Given the description of an element on the screen output the (x, y) to click on. 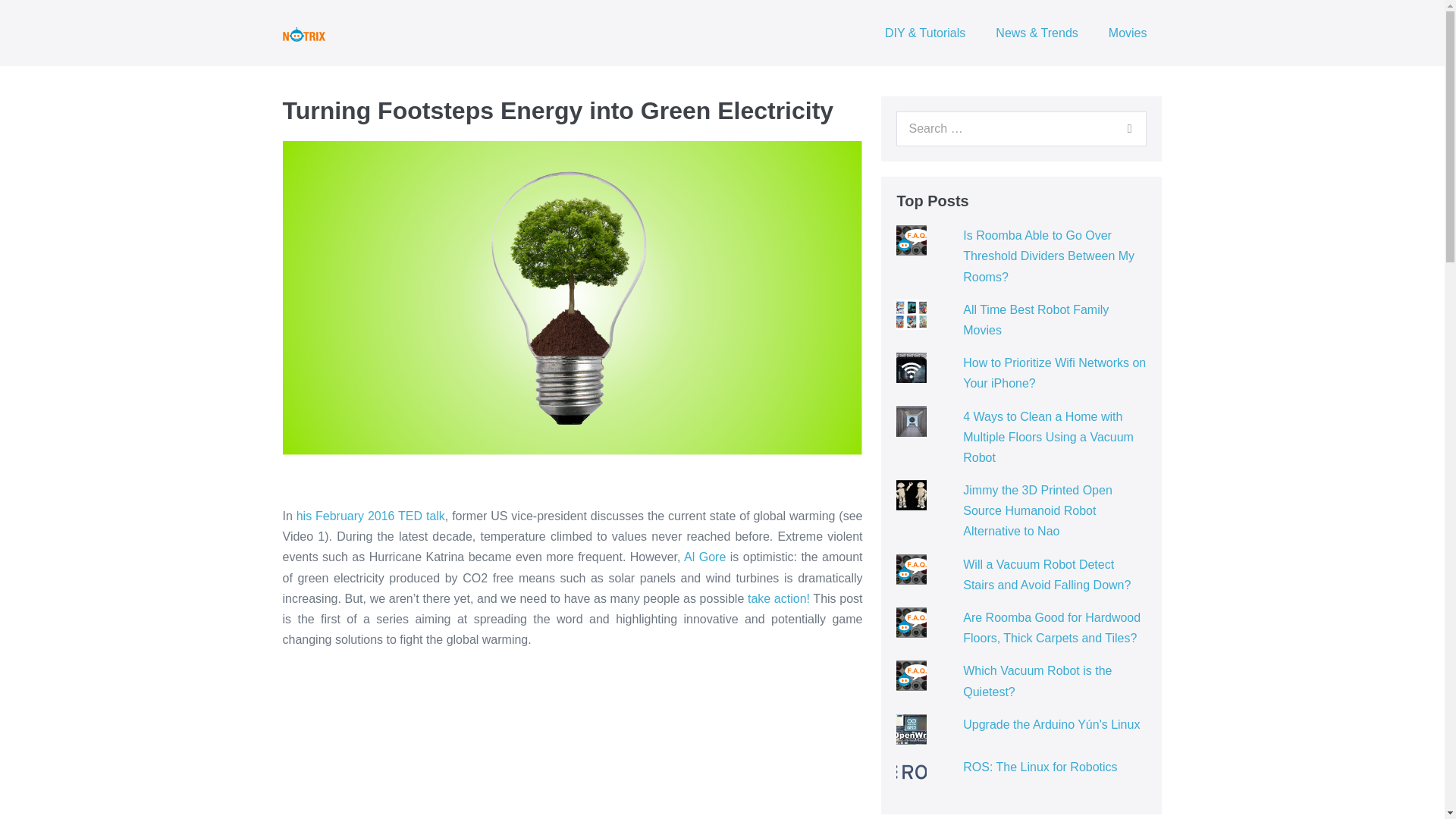
Which Vacuum Robot is the Quietest? (1037, 680)
Al Gore (704, 556)
take action! (778, 598)
How to Prioritize Wifi Networks on Your iPhone? (1053, 372)
All Time Best Robot Family Movies (1035, 319)
his February 2016 TED talk (371, 515)
Movies (1127, 32)
Nootrix Robotics (303, 34)
Will a Vacuum Robot Detect Stairs and Avoid Falling Down? (1046, 574)
How to Prioritize Wifi Networks on Your iPhone? (1053, 372)
